Given the description of an element on the screen output the (x, y) to click on. 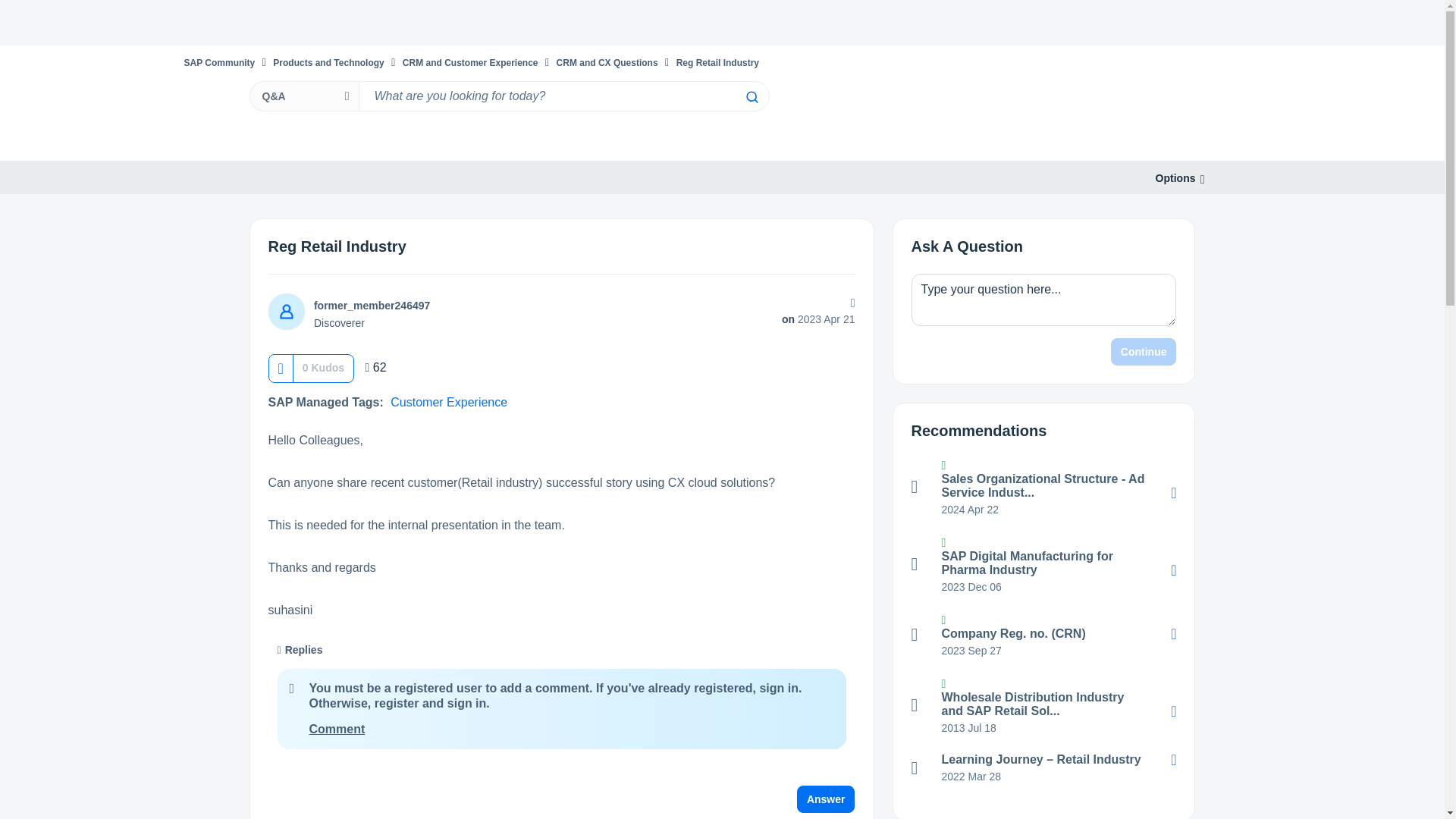
Products and Technology (328, 62)
Comment (336, 728)
Continue (1143, 351)
Type your question here (1043, 299)
The total number of kudos this post has received. (323, 367)
Continue (1143, 351)
CRM and Customer Experience (470, 62)
Search (750, 96)
Answer (826, 799)
Click here to give kudos to this post. (279, 367)
